Given the description of an element on the screen output the (x, y) to click on. 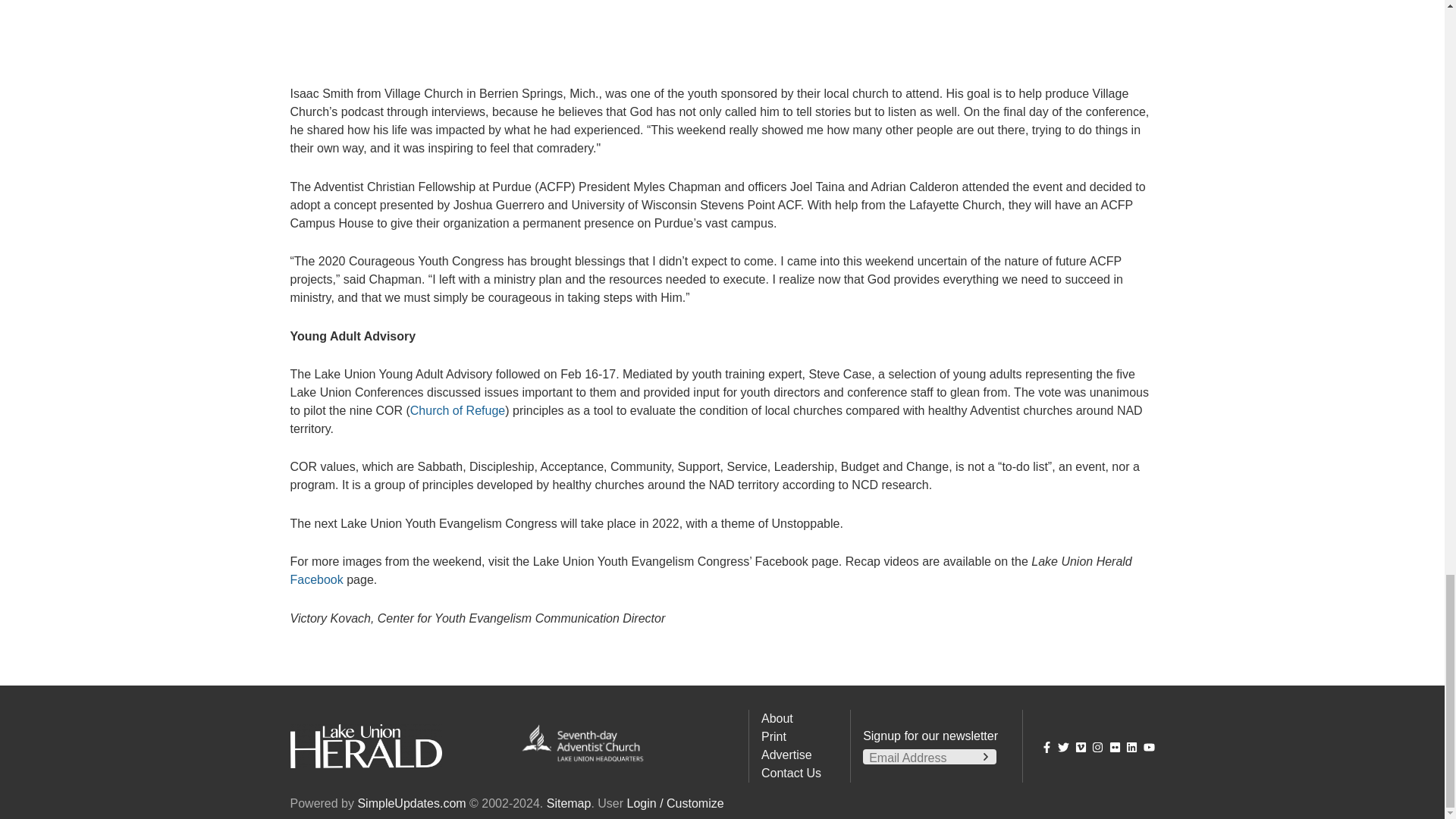
Church of Refuge (457, 410)
About (777, 717)
Facebook (315, 579)
